Given the description of an element on the screen output the (x, y) to click on. 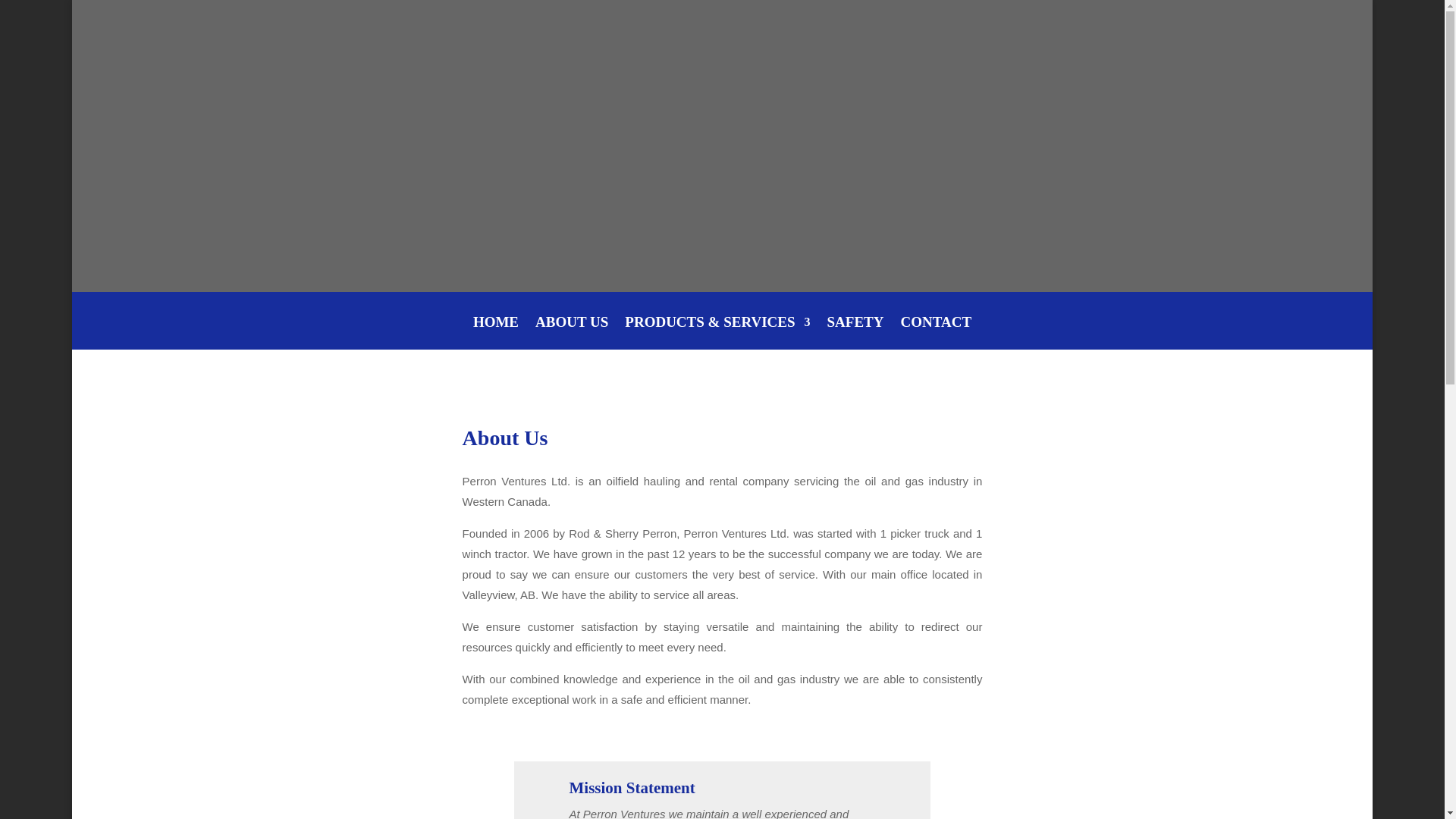
SAFETY (855, 332)
ABOUT US (571, 332)
HOME (495, 332)
CONTACT (936, 332)
